Given the description of an element on the screen output the (x, y) to click on. 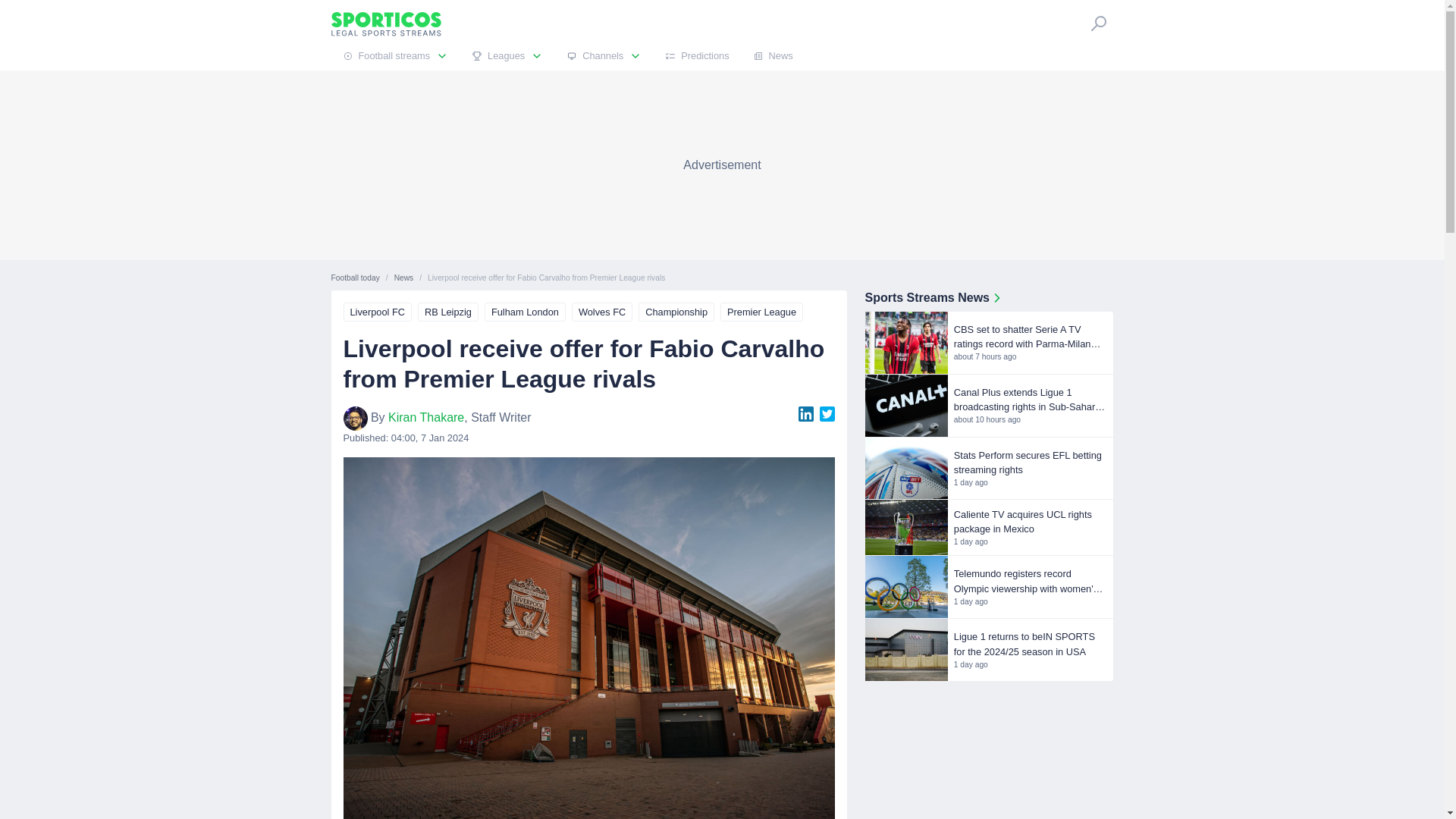
Leagues (507, 56)
Football streams (395, 56)
Kiran Thakare (426, 417)
